Given the description of an element on the screen output the (x, y) to click on. 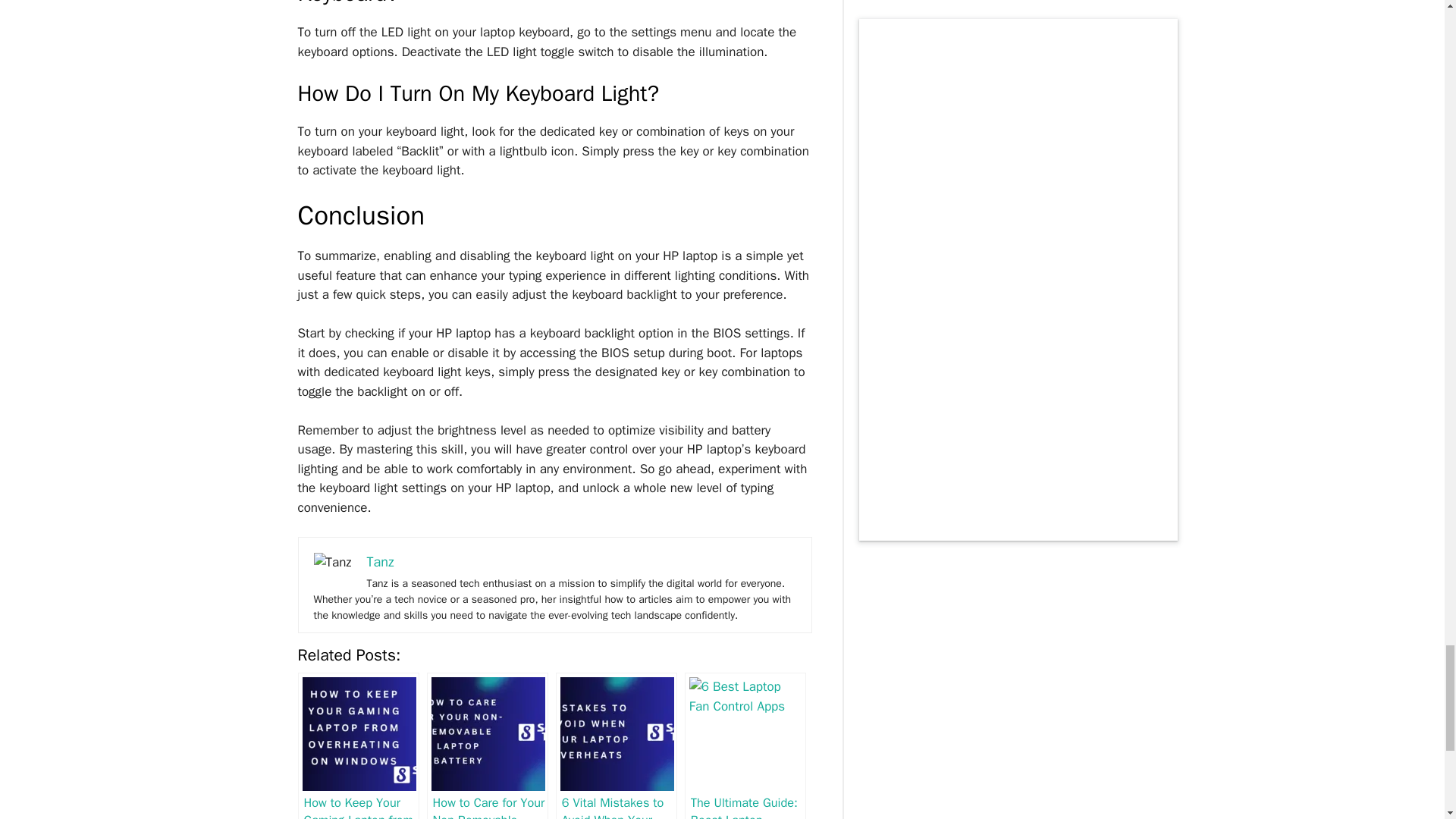
6 Vital Mistakes to Avoid When Your Laptop Overheats 5 (617, 734)
How to Keep Your Gaming Laptop from Overheating on Windows 3 (357, 734)
Tanz (379, 561)
Illuminate Your HP Laptop Keyboard Light Control 2 (333, 562)
